Given the description of an element on the screen output the (x, y) to click on. 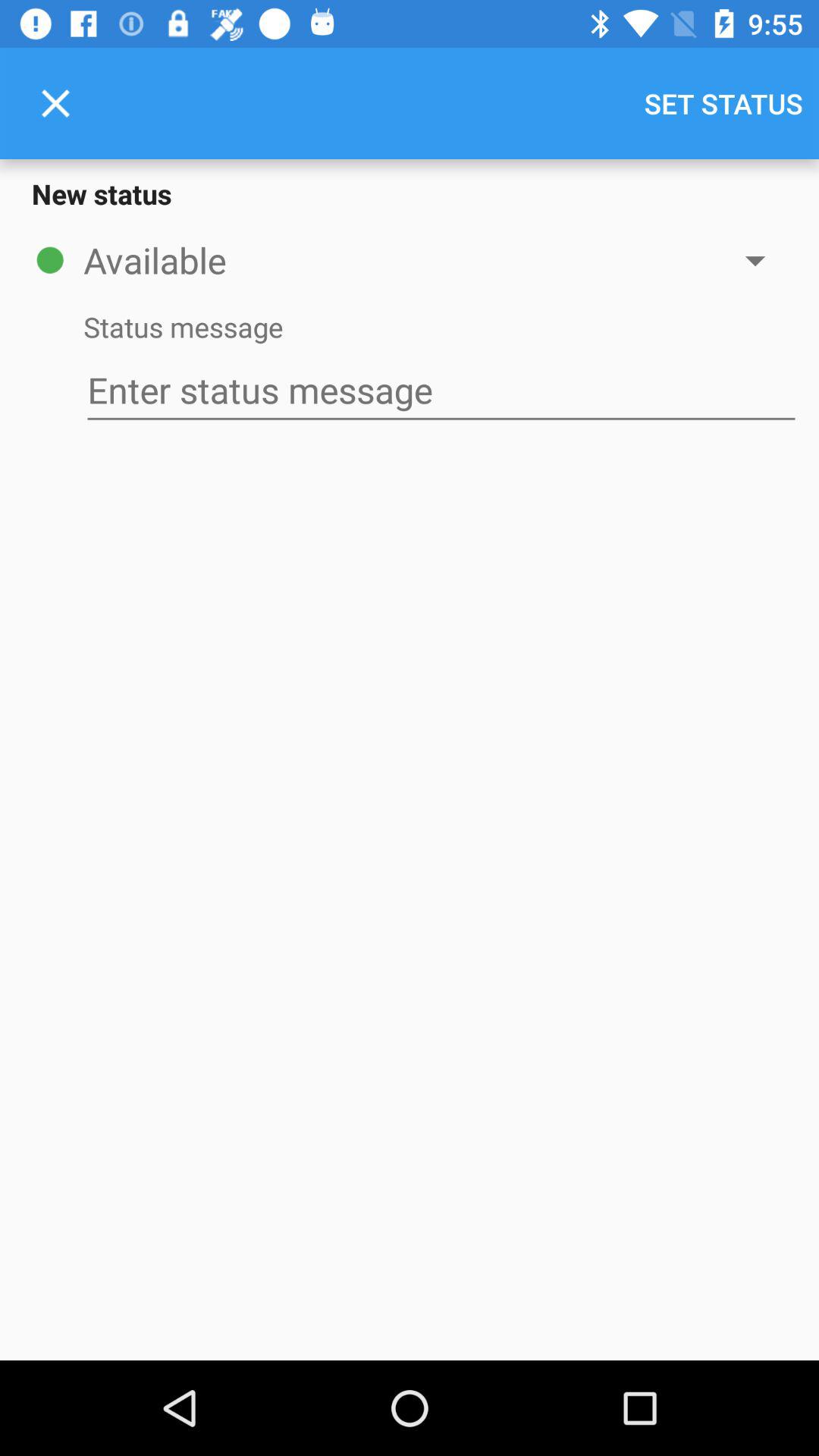
choose the item below the status message icon (441, 390)
